Given the description of an element on the screen output the (x, y) to click on. 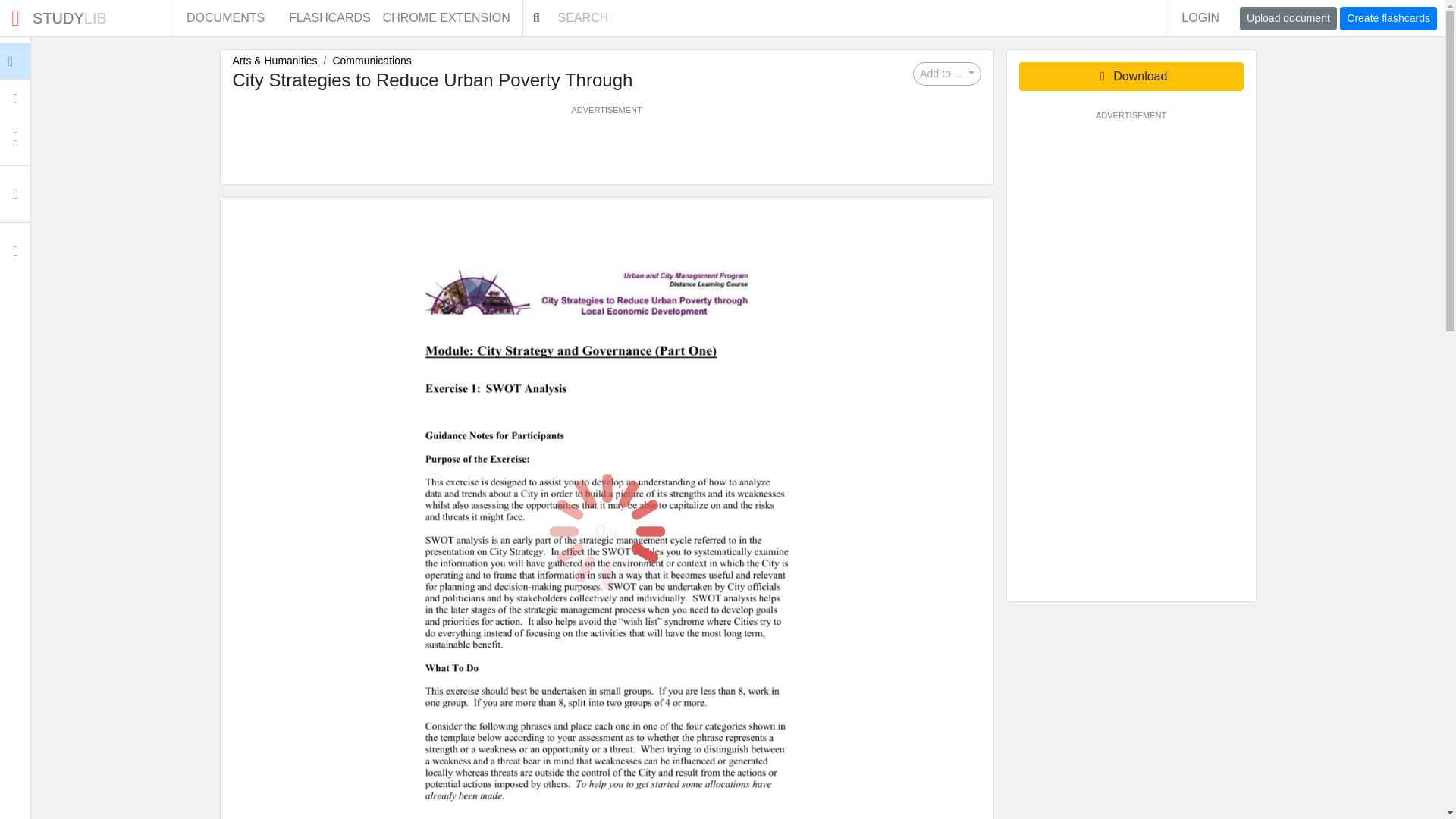
Create flashcards (1388, 18)
LOGIN (86, 18)
Add to ... (1200, 18)
Advertisement (946, 73)
DOCUMENTS (605, 150)
FLASHCARDS (225, 18)
Upload document (329, 18)
Communications (1288, 18)
CHROME EXTENSION (370, 60)
